Given the description of an element on the screen output the (x, y) to click on. 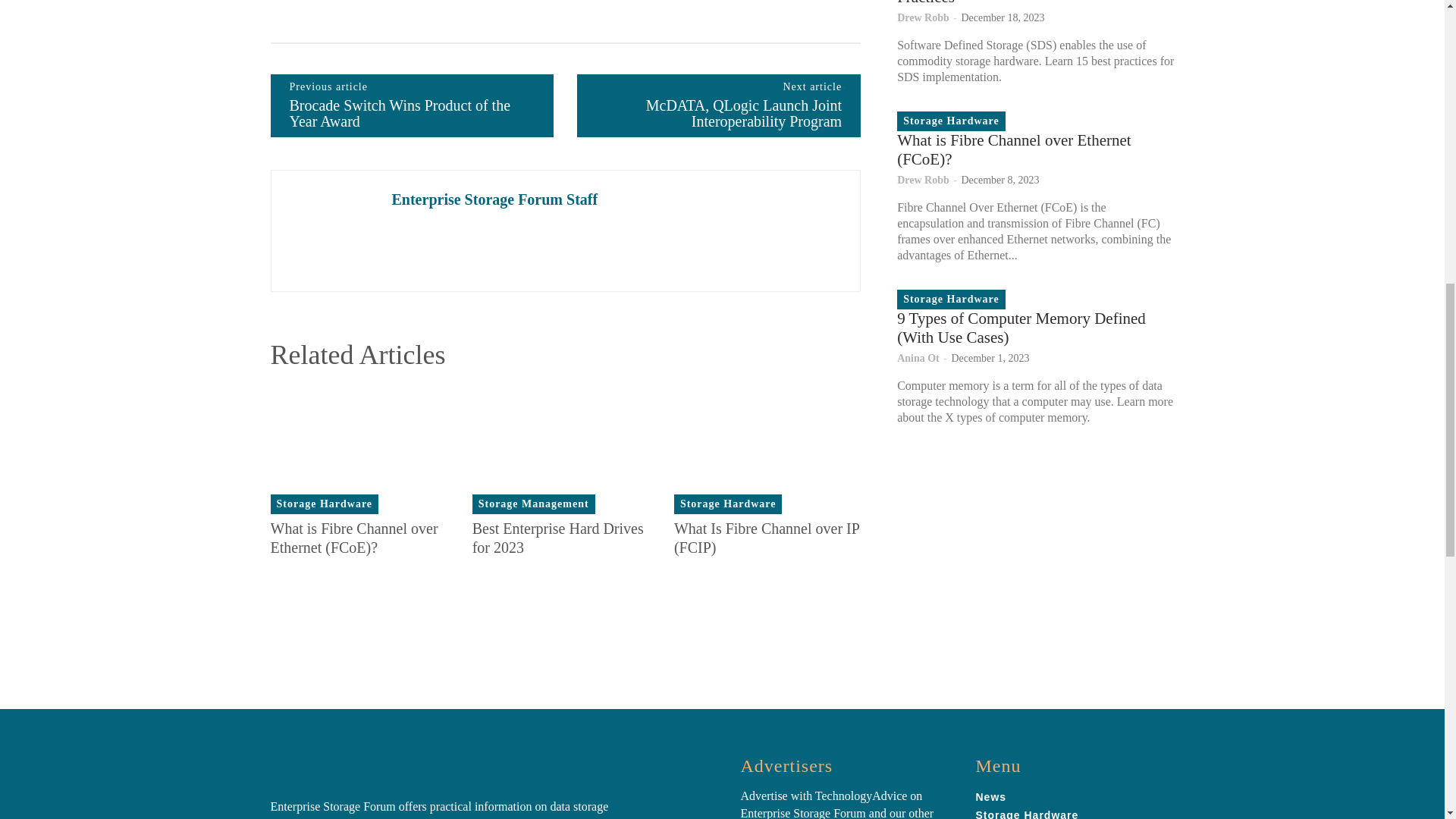
Storage Management (533, 504)
Enterprise Storage Forum Staff (330, 230)
Enterprise Storage Forum Staff (493, 199)
McDATA, QLogic Launch Joint Interoperability Program (743, 113)
Best Enterprise Hard Drives for 2023 (565, 449)
Brocade Switch Wins Product of the Year Award (400, 113)
Storage Hardware (323, 504)
